Given the description of an element on the screen output the (x, y) to click on. 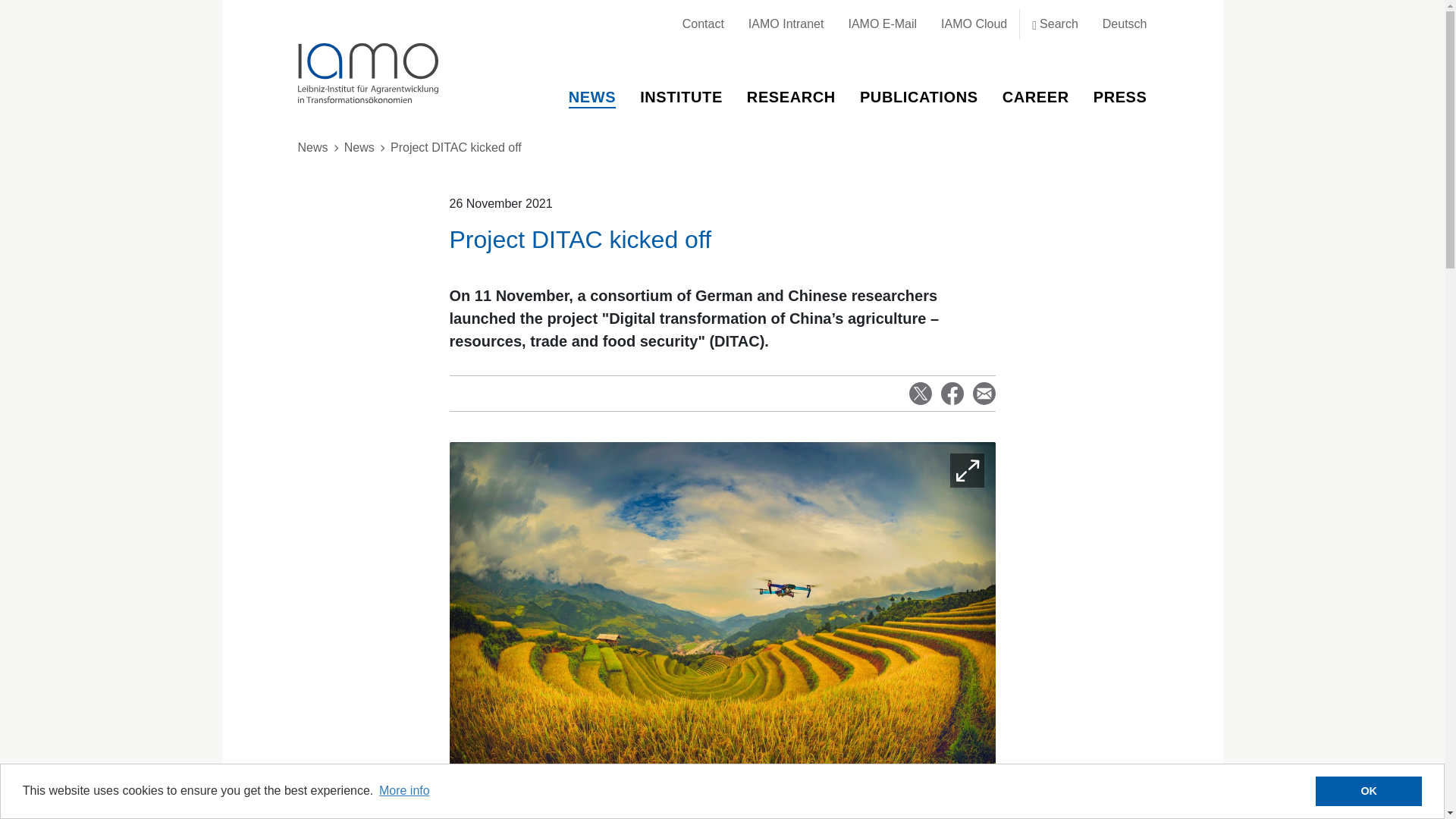
Send by email (983, 393)
Share on Facebook (951, 393)
OK (1369, 791)
Share on X (919, 393)
More info (404, 790)
